Given the description of an element on the screen output the (x, y) to click on. 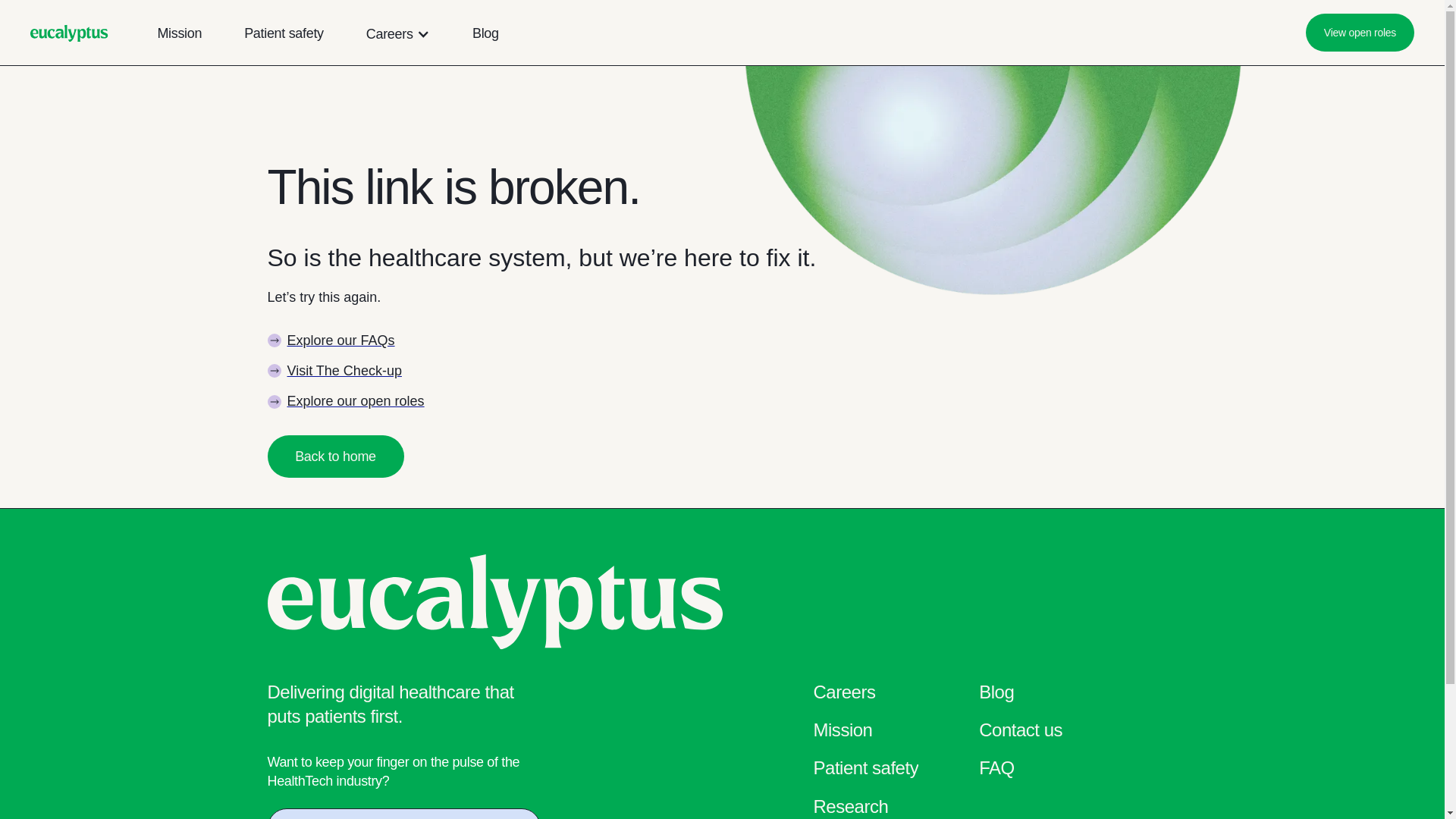
Blog (485, 38)
Contact us (1020, 730)
Patient safety (865, 768)
Mission (179, 38)
Visit The Check-up (333, 370)
View open roles (1359, 32)
Explore our open roles (344, 401)
Careers (389, 33)
Subscribe to our newsletter (403, 813)
Back to home (334, 455)
